Given the description of an element on the screen output the (x, y) to click on. 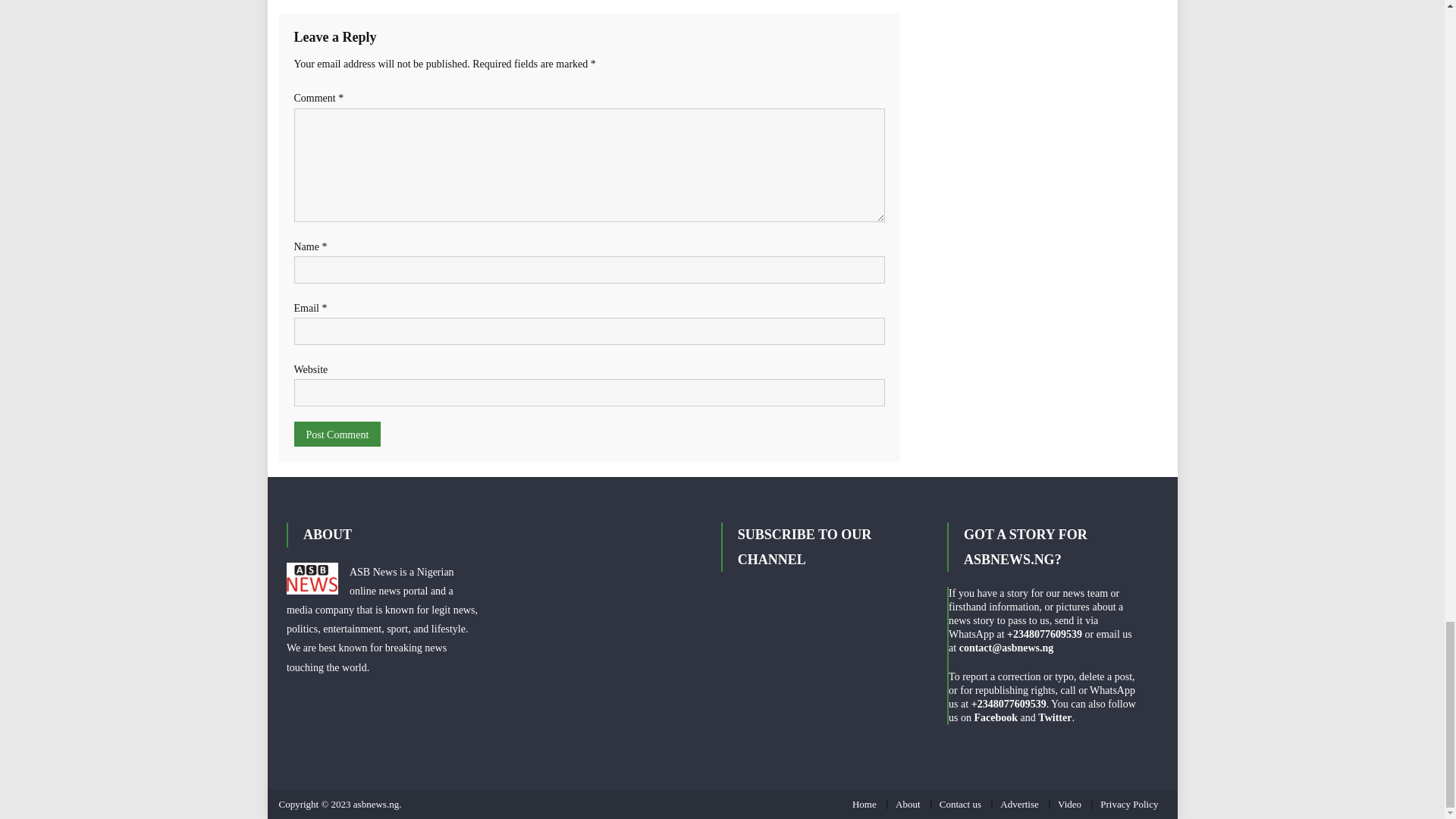
Post Comment (337, 433)
